Given the description of an element on the screen output the (x, y) to click on. 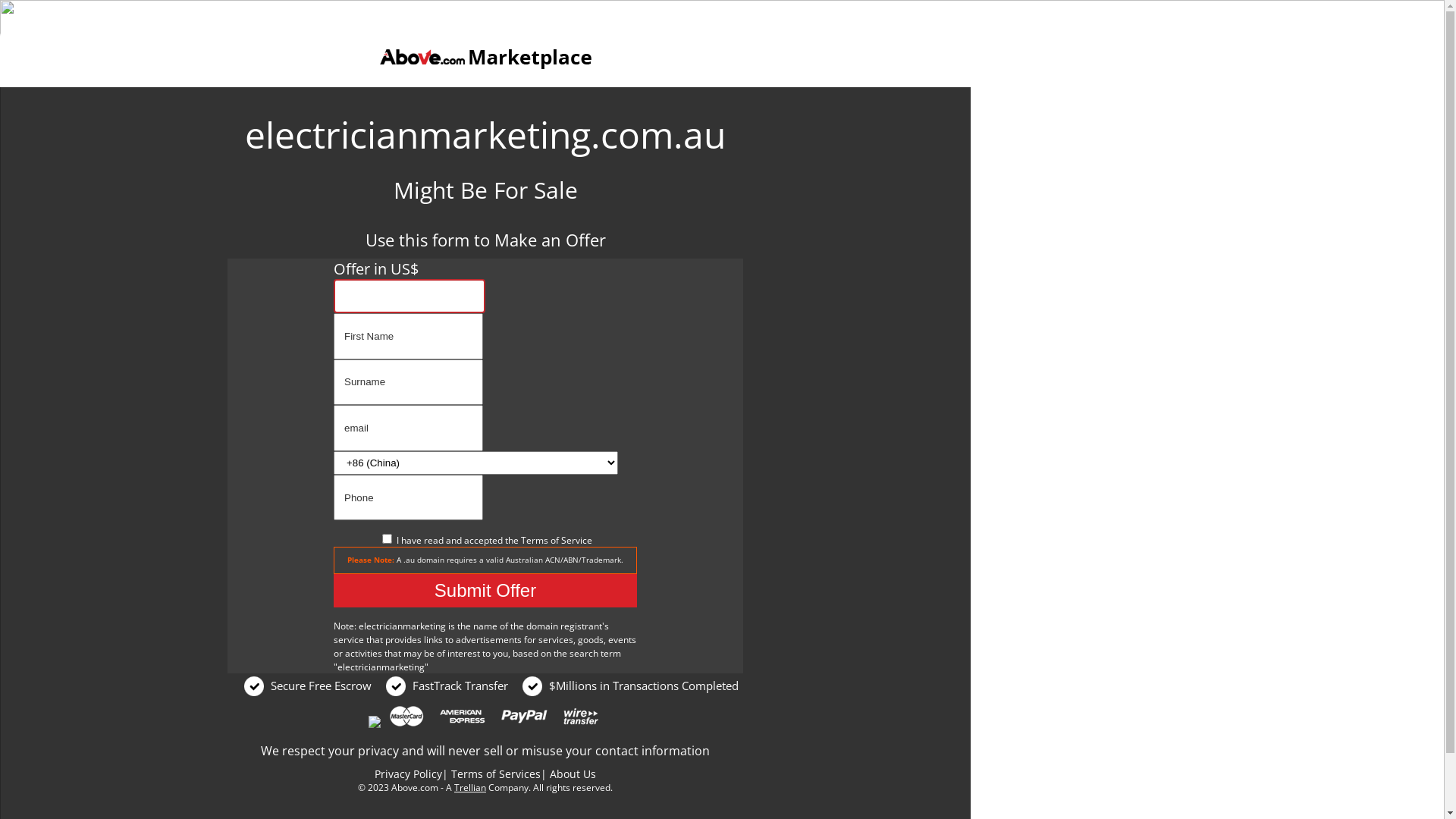
Submit Offer Element type: text (485, 590)
Trellian Element type: text (470, 787)
Privacy Policy Element type: text (408, 773)
Terms Element type: text (533, 539)
Terms of Services Element type: text (495, 773)
About Us Element type: text (572, 773)
